Given the description of an element on the screen output the (x, y) to click on. 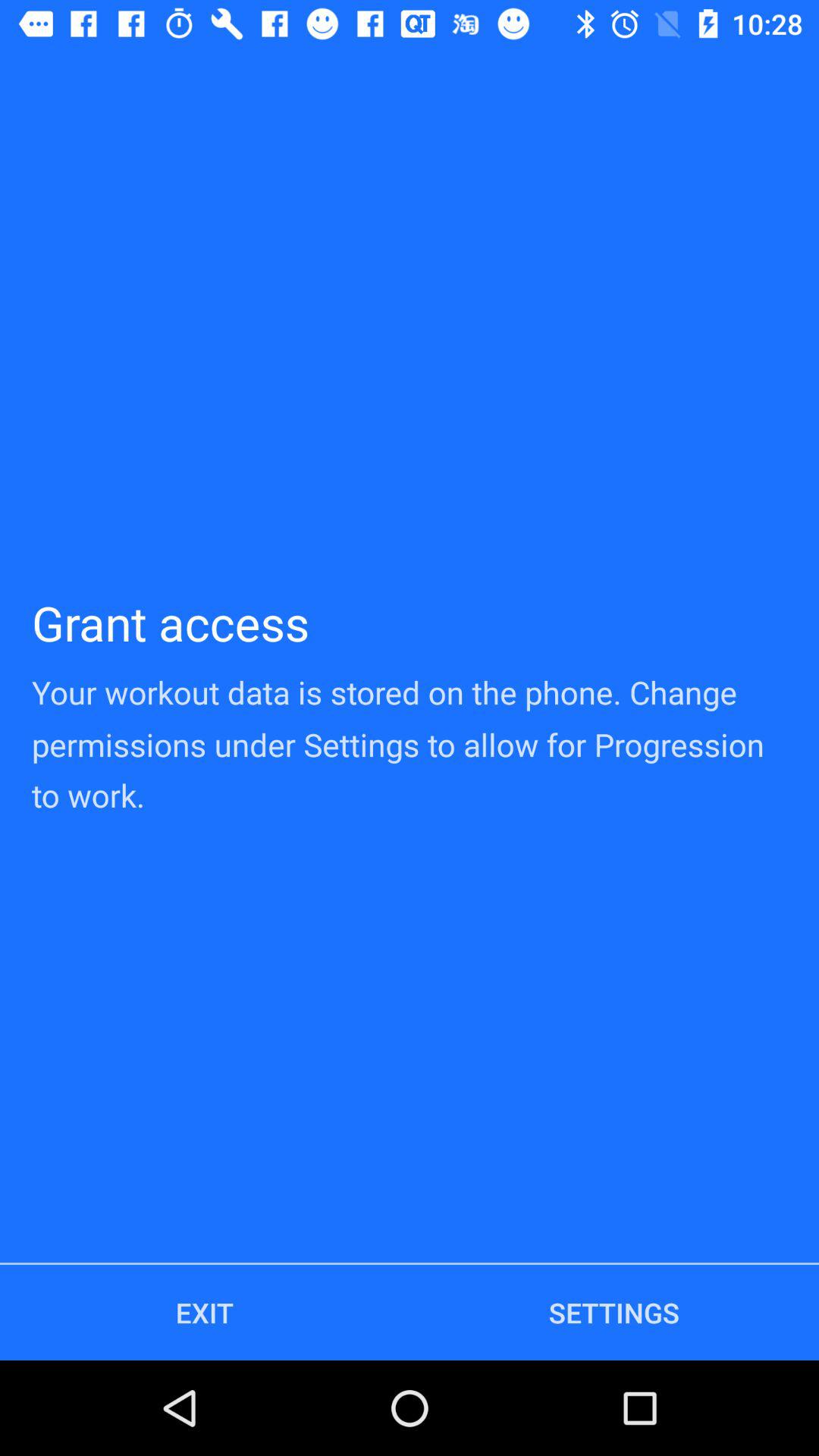
click the exit at the bottom left corner (204, 1312)
